Given the description of an element on the screen output the (x, y) to click on. 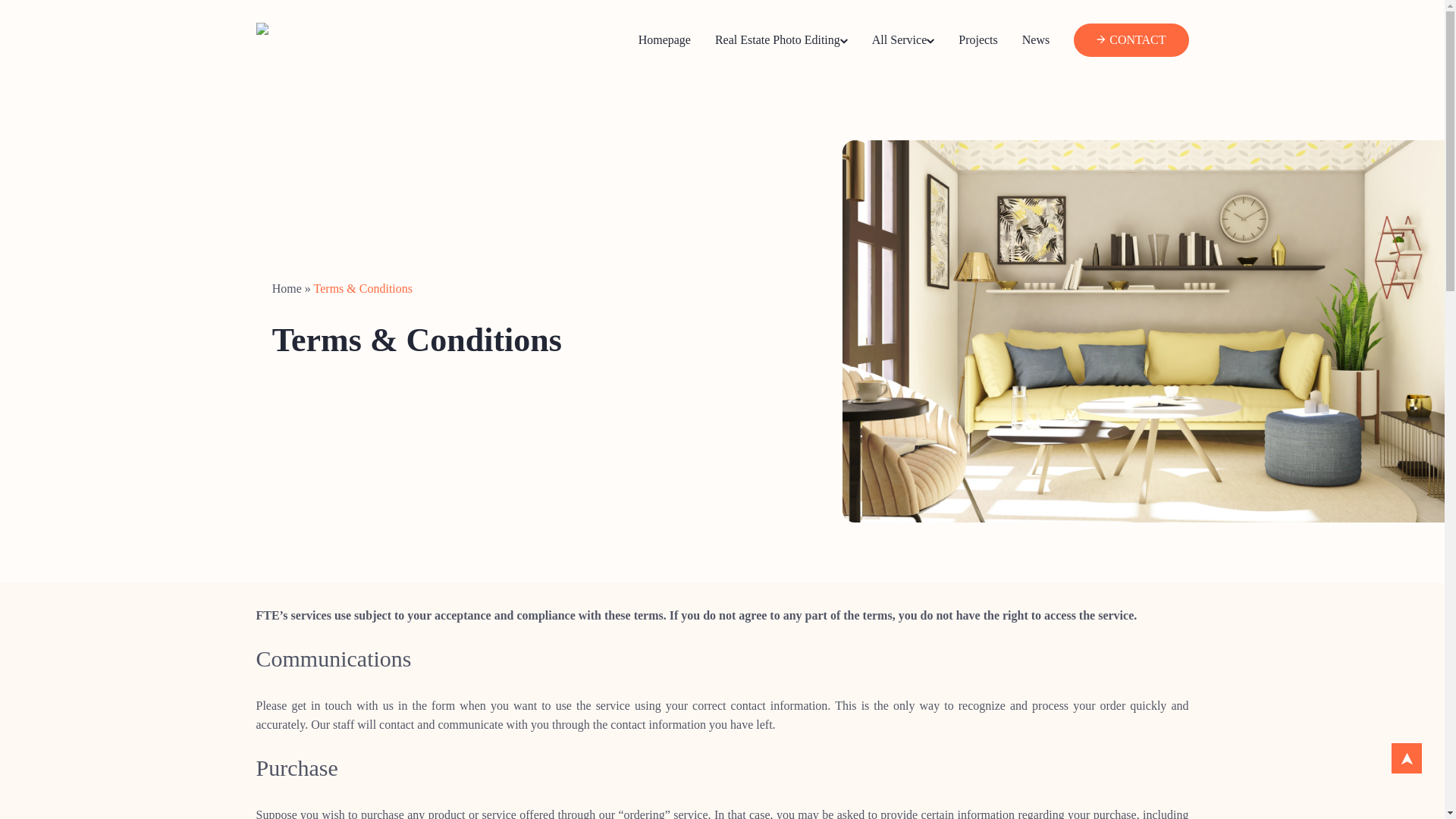
Home (286, 287)
Homepage (664, 39)
CONTACT (1137, 39)
Projects (977, 39)
All Service (903, 39)
Real Estate Photo Editing (780, 39)
News (1035, 39)
